Given the description of an element on the screen output the (x, y) to click on. 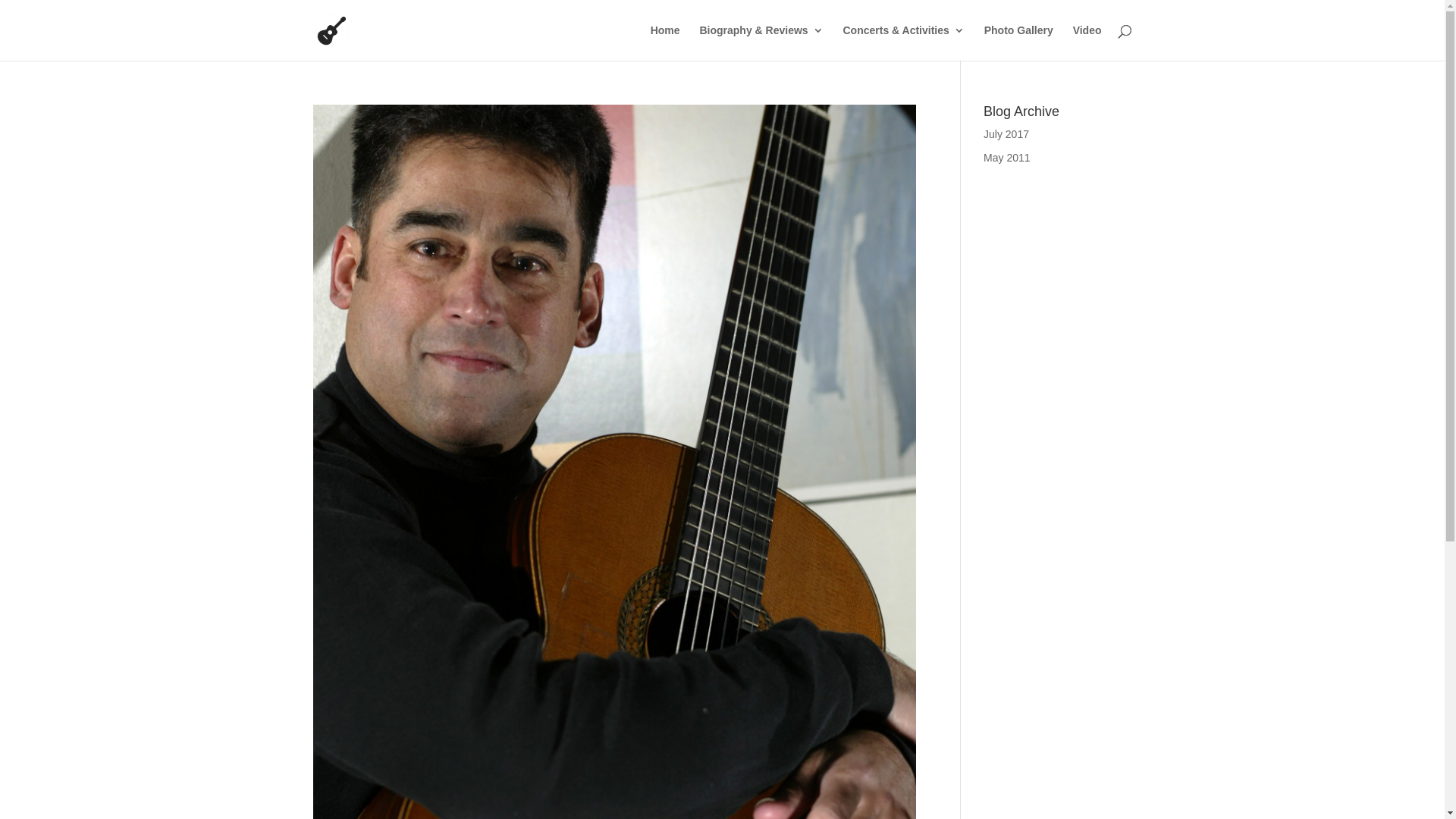
July 2017 Element type: text (1006, 134)
May 2011 Element type: text (1006, 157)
Photo Gallery Element type: text (1018, 42)
Concerts & Activities Element type: text (903, 42)
Video Element type: text (1087, 42)
Biography & Reviews Element type: text (760, 42)
Home Element type: text (665, 42)
